Given the description of an element on the screen output the (x, y) to click on. 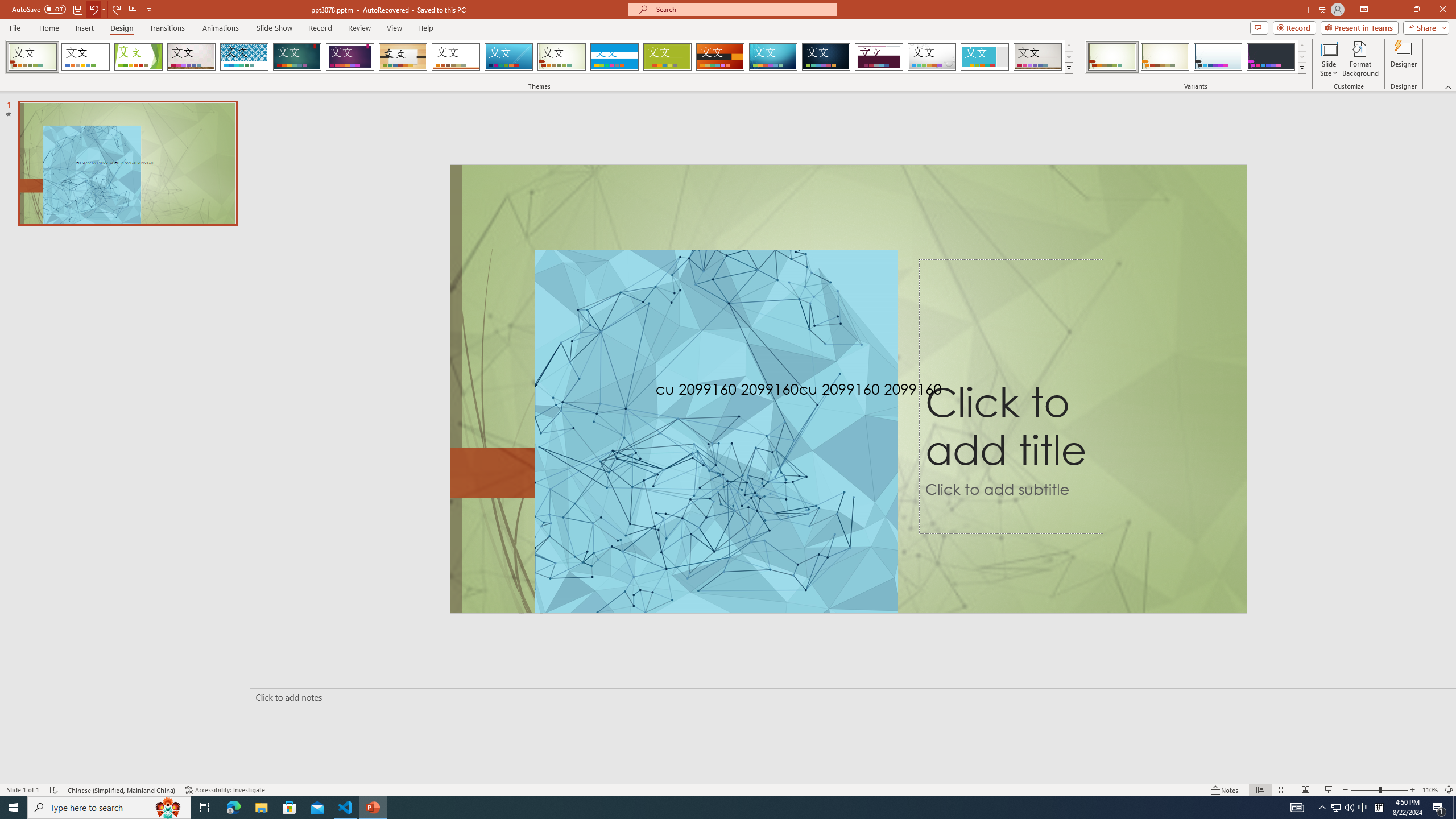
Wisp Variant 4 (1270, 56)
Basis (667, 56)
Ion Boardroom (350, 56)
Wisp (561, 56)
